Given the description of an element on the screen output the (x, y) to click on. 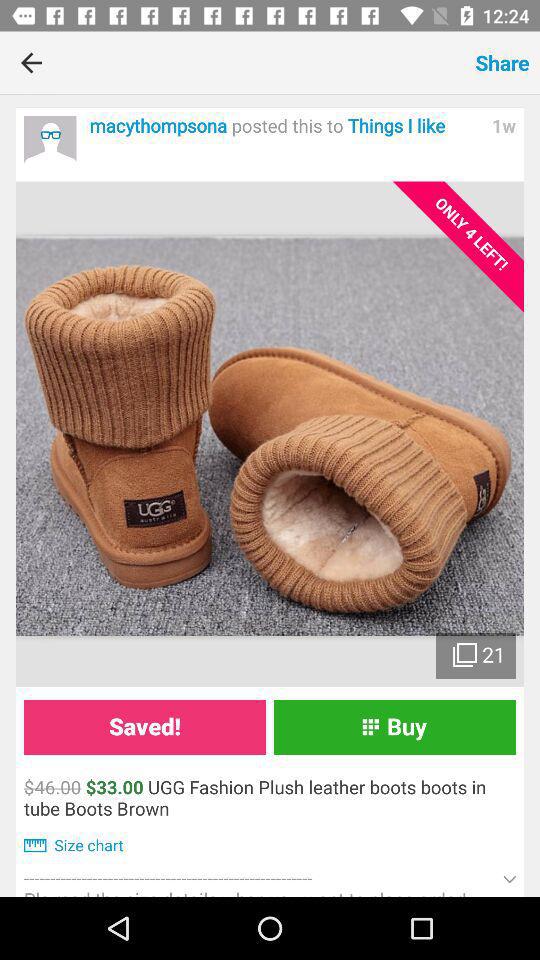
item is displayed (269, 433)
